Given the description of an element on the screen output the (x, y) to click on. 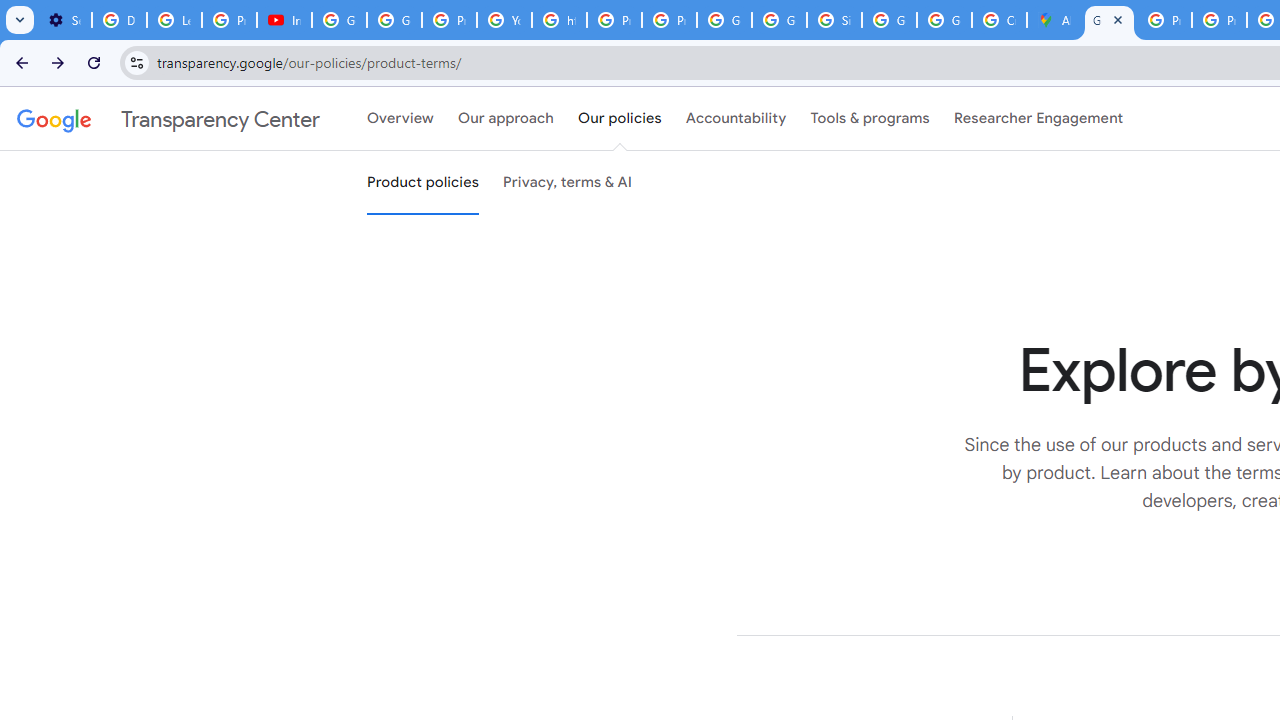
Privacy Help Center - Policies Help (1163, 20)
Transparency Center (167, 119)
Learn how to find your photos - Google Photos Help (174, 20)
https://scholar.google.com/ (559, 20)
YouTube (504, 20)
Tools & programs (869, 119)
